Given the description of an element on the screen output the (x, y) to click on. 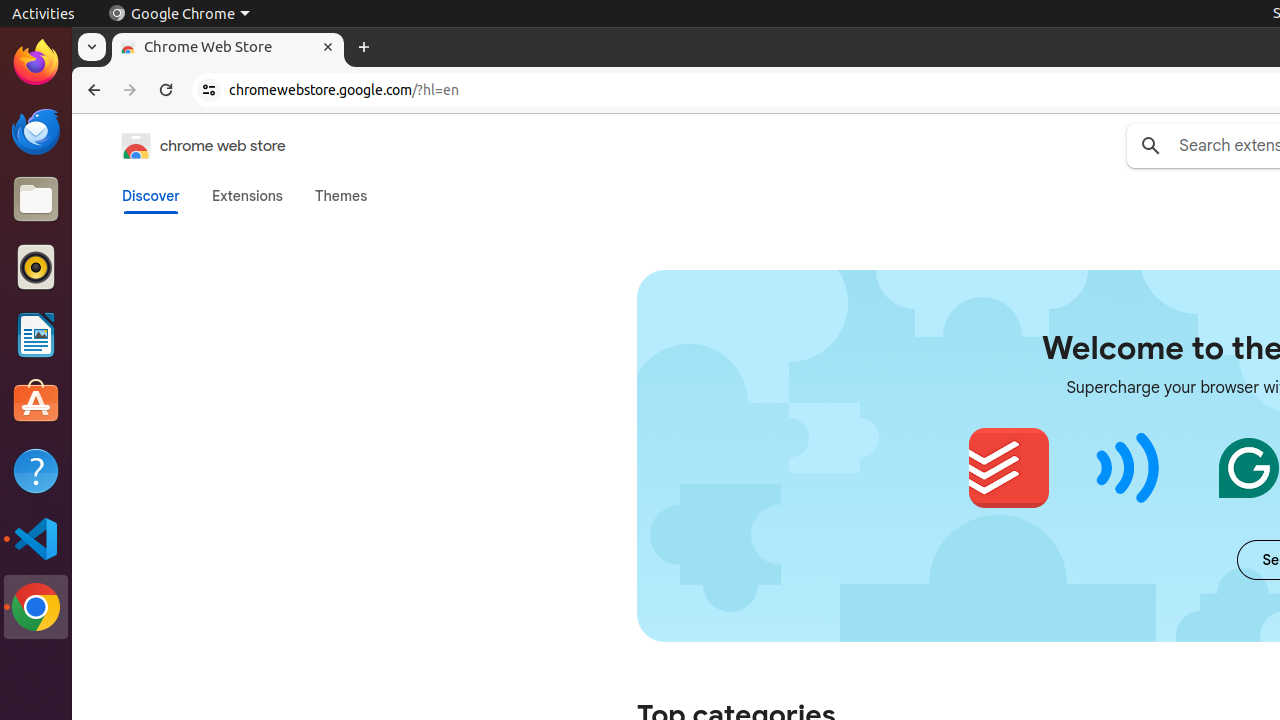
Firefox Web Browser Element type: push-button (36, 63)
Discover Element type: page-tab (151, 196)
Google Chrome Element type: push-button (36, 607)
Thunderbird Mail Element type: push-button (36, 131)
Volume Master Element type: link (1128, 468)
